Given the description of an element on the screen output the (x, y) to click on. 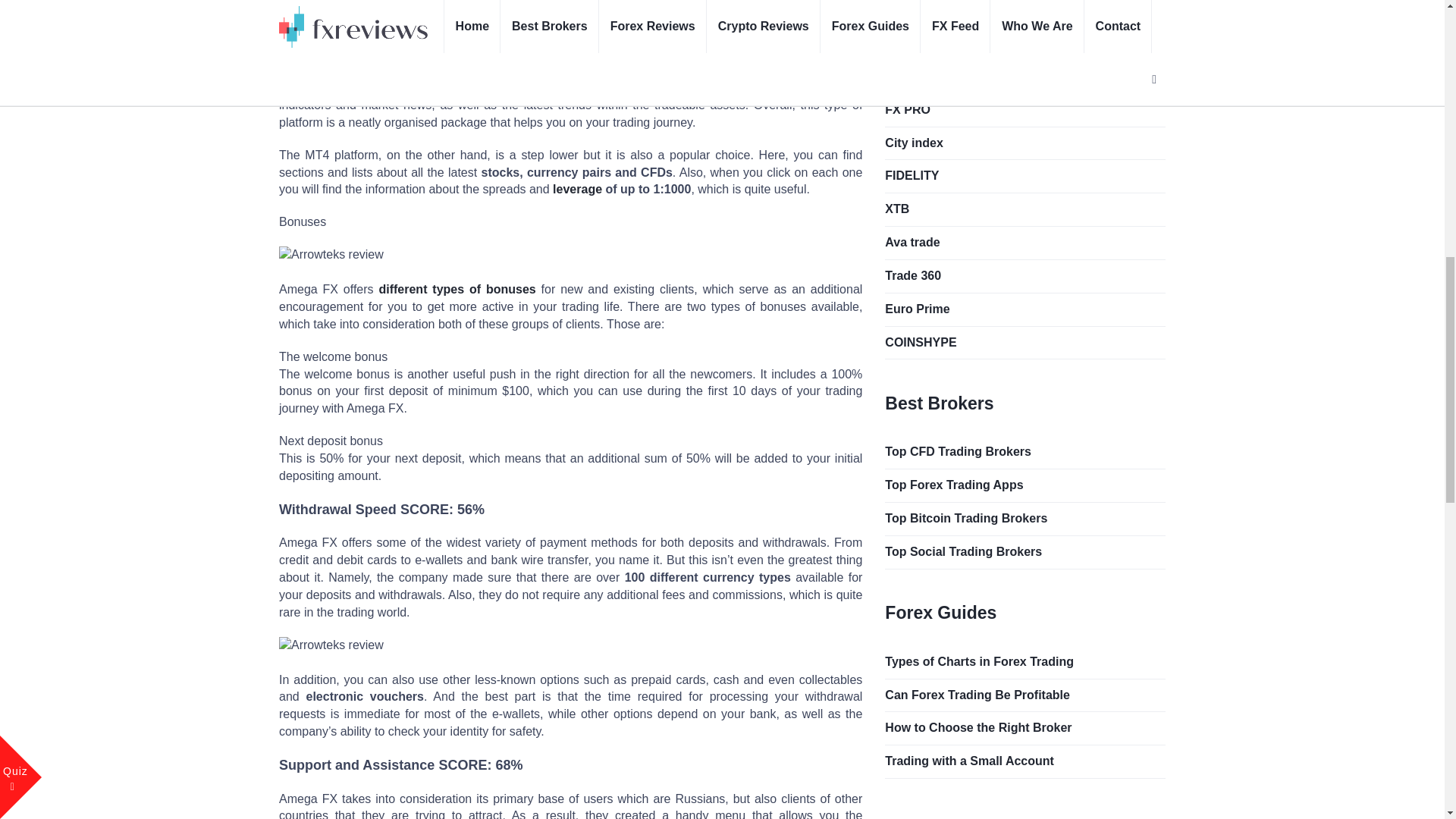
MT4 platform (699, 52)
leverage (577, 188)
SECUREDVC (1025, 9)
different types of bonuses (456, 288)
MT5 (629, 52)
